Given the description of an element on the screen output the (x, y) to click on. 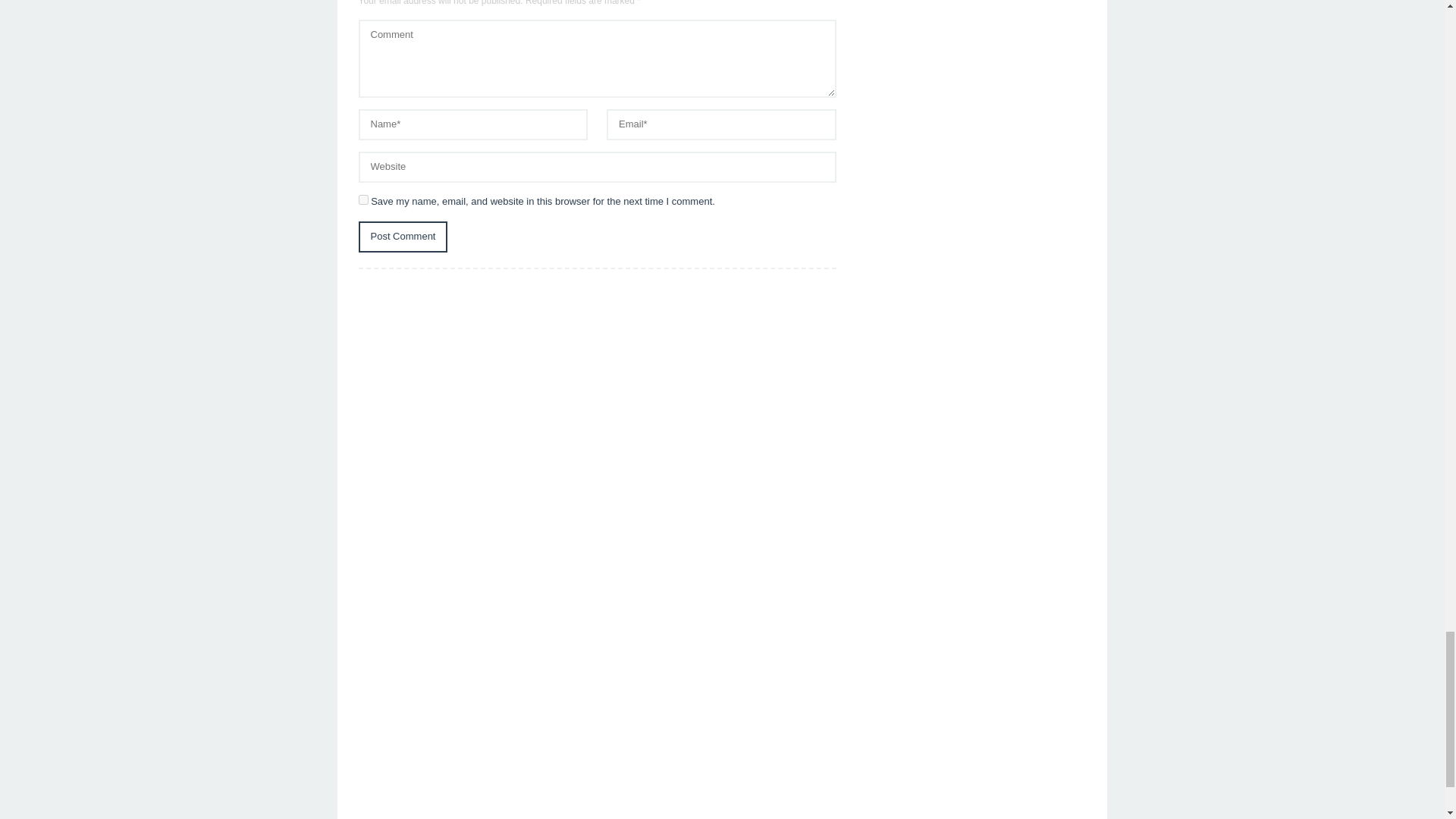
Post Comment (402, 236)
Post Comment (402, 236)
yes (363, 199)
